Given the description of an element on the screen output the (x, y) to click on. 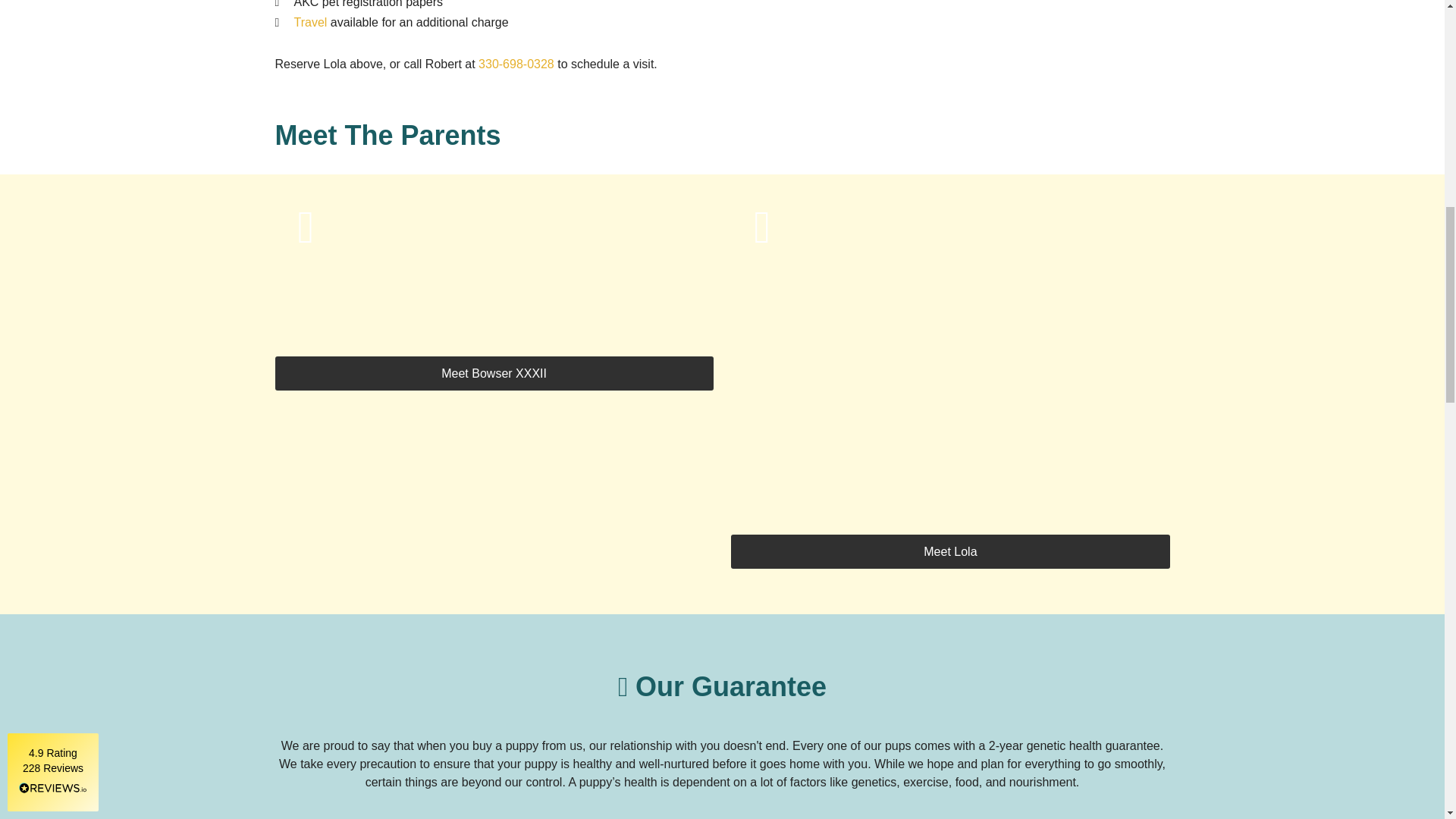
330-698-0328 (516, 63)
Meet Lola (949, 551)
Meet Bowser XXXII (494, 373)
Travel (310, 21)
